Given the description of an element on the screen output the (x, y) to click on. 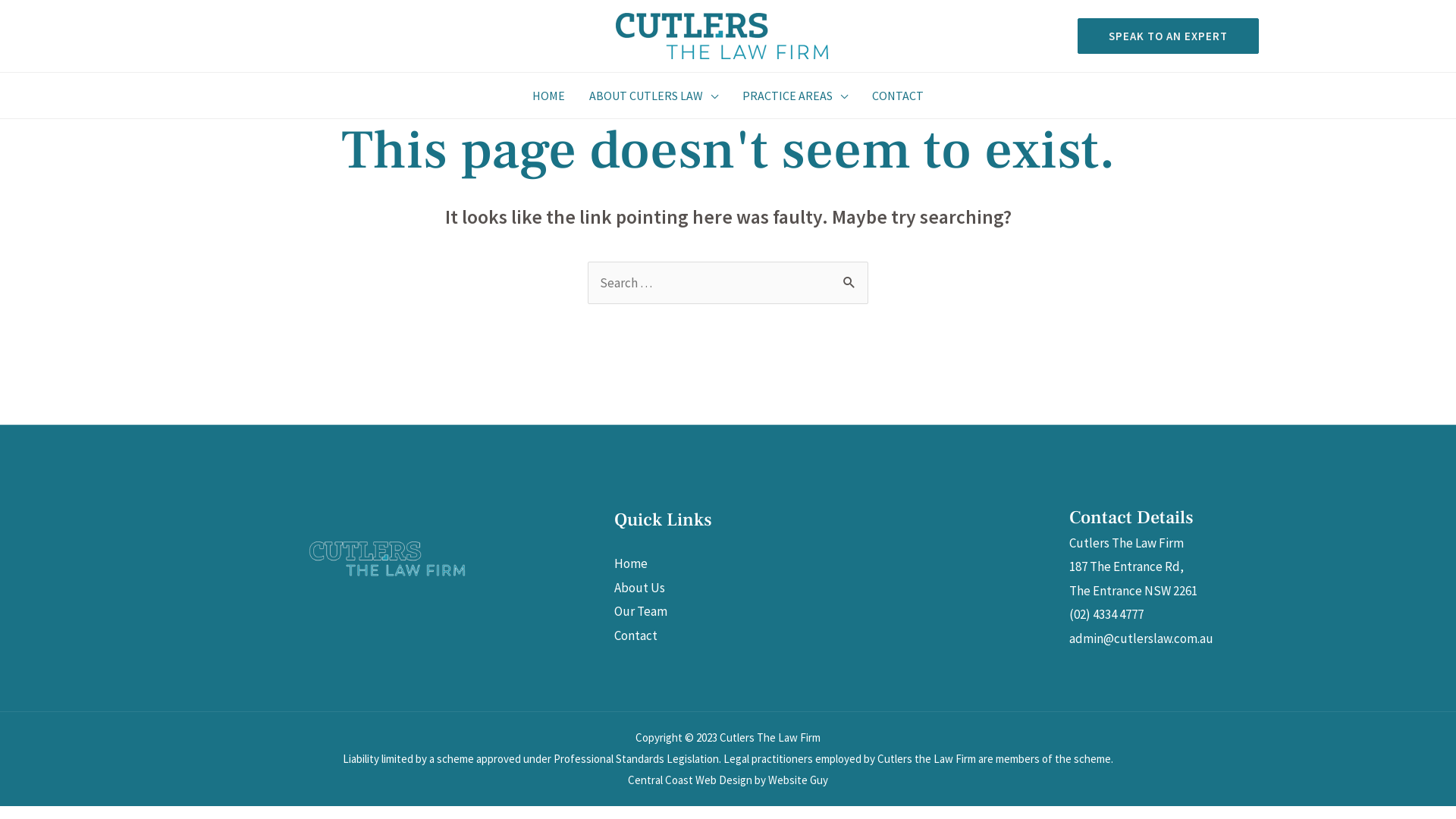
CONTACT Element type: text (897, 95)
About Us Element type: text (639, 587)
Our Team Element type: text (640, 610)
Home Element type: text (630, 563)
PRACTICE AREAS Element type: text (794, 95)
Search Element type: text (851, 277)
ABOUT CUTLERS LAW Element type: text (653, 95)
HOME Element type: text (548, 95)
Contact Element type: text (635, 635)
SPEAK TO AN EXPERT Element type: text (1161, 35)
